Given the description of an element on the screen output the (x, y) to click on. 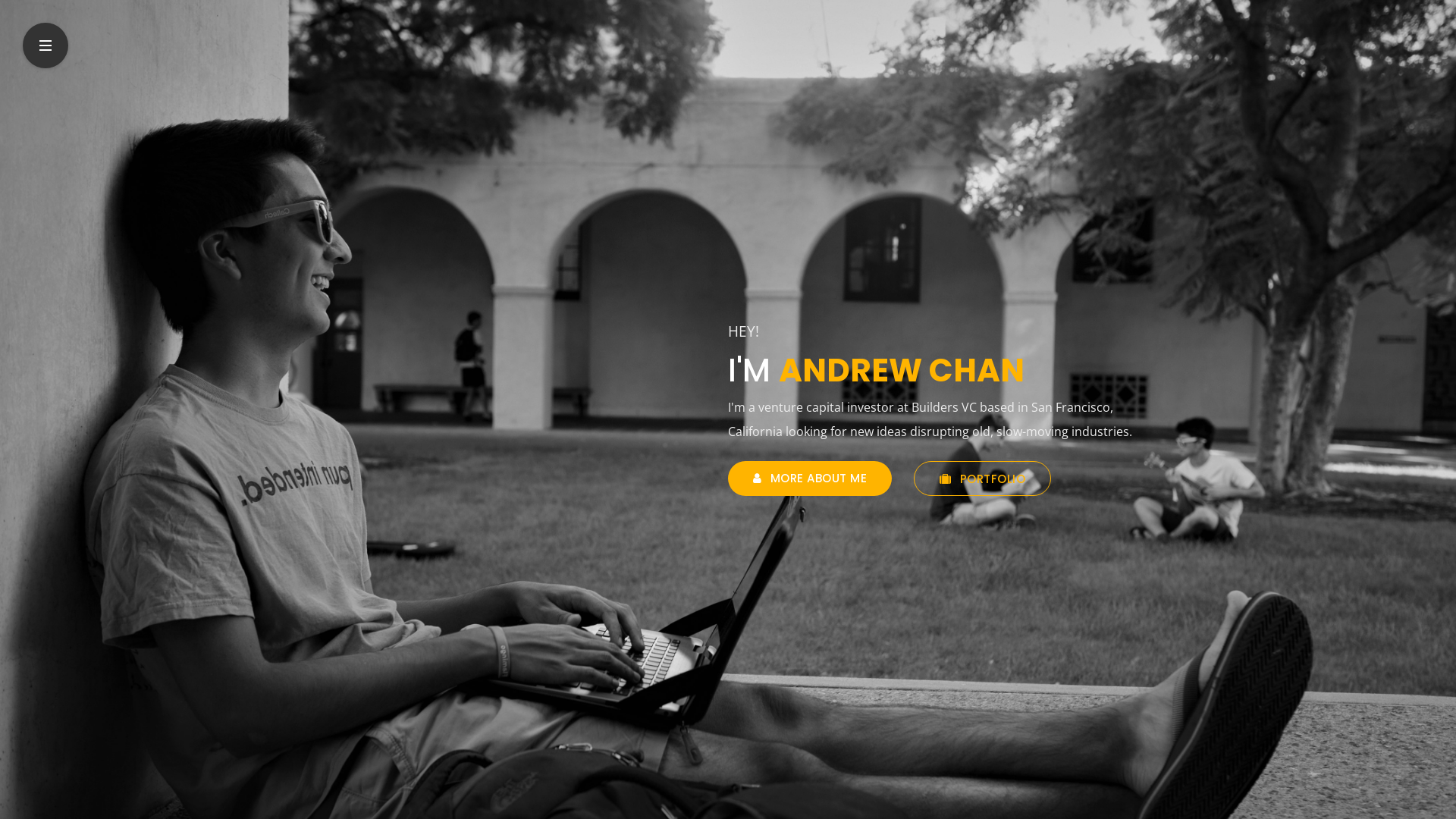
get in touch Element type: text (38, 56)
PORTFOLIO Element type: text (982, 478)
About me Element type: text (31, 23)
investment Portfolio Element type: text (61, 39)
my Blog Element type: text (27, 72)
MORE ABOUT ME Element type: text (809, 478)
Home Element type: text (21, 7)
